Given the description of an element on the screen output the (x, y) to click on. 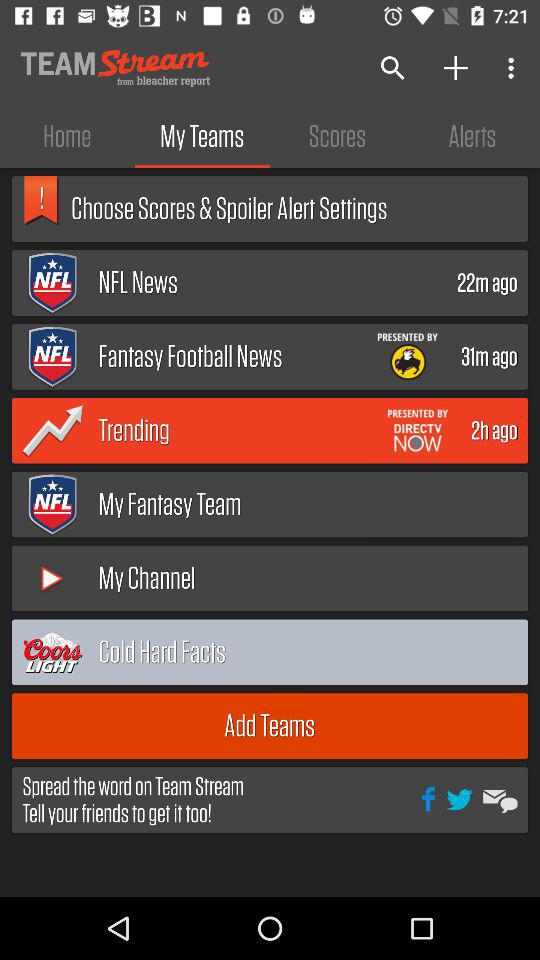
empty of box (474, 651)
